Given the description of an element on the screen output the (x, y) to click on. 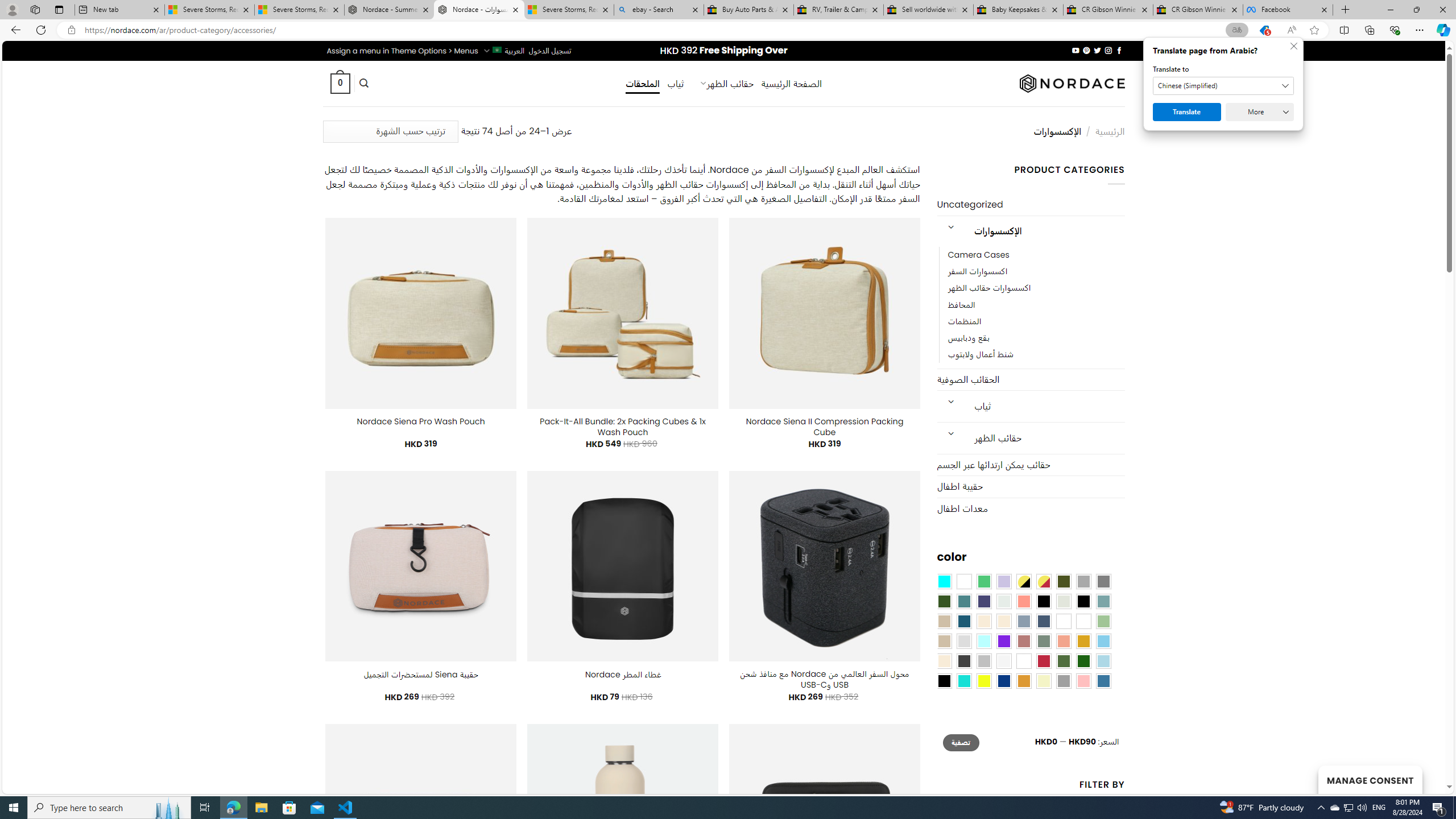
Caramel (983, 621)
Uncategorized (1030, 204)
 0  (340, 83)
Assign a menu in Theme Options > Menus (402, 50)
Baby Keepsakes & Announcements for sale | eBay (1018, 9)
